Given the description of an element on the screen output the (x, y) to click on. 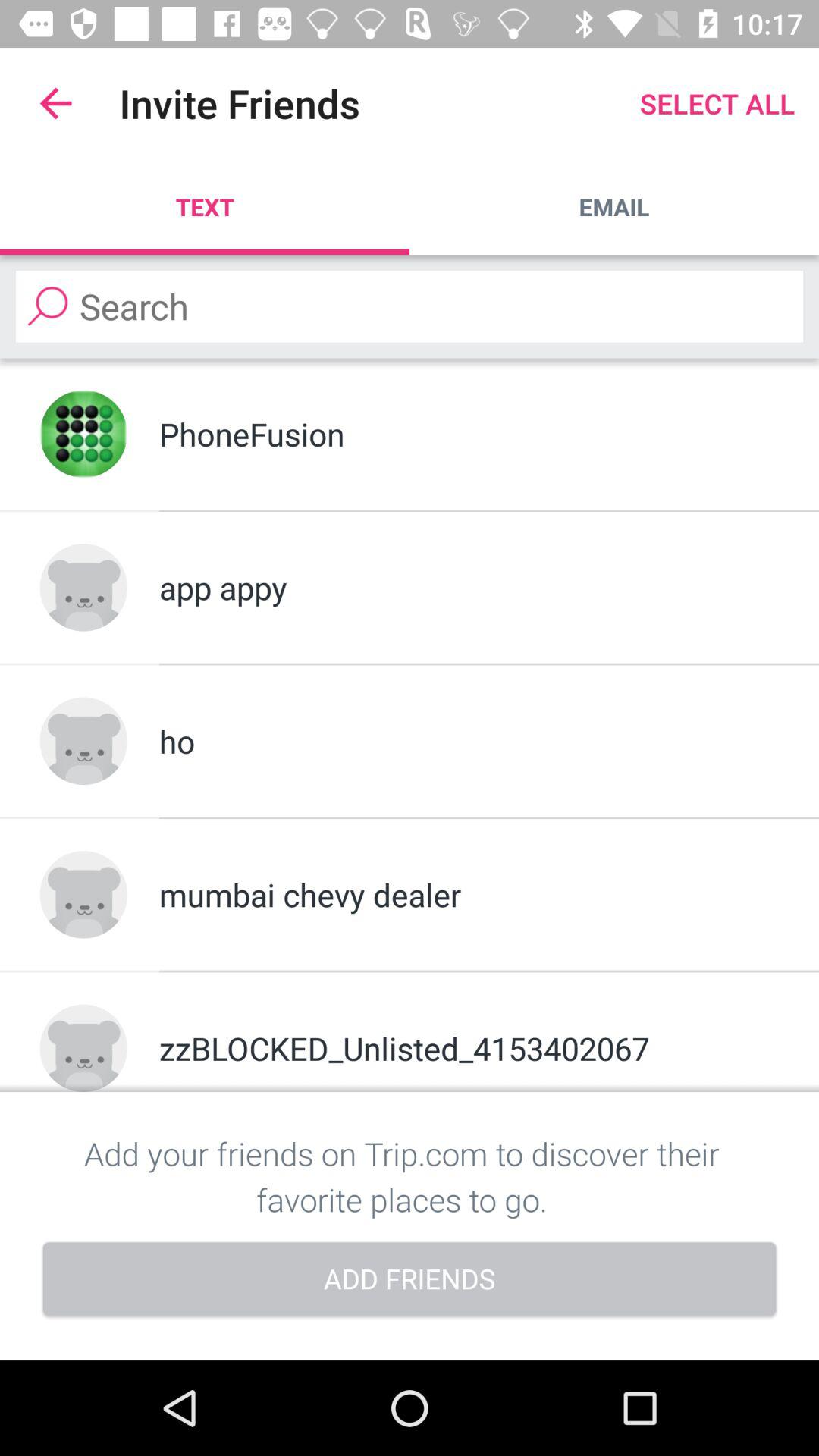
click on add friends (409, 1280)
click on the search bar (409, 306)
button right to the header text (717, 103)
select the icon below the search bar (83, 433)
